Given the description of an element on the screen output the (x, y) to click on. 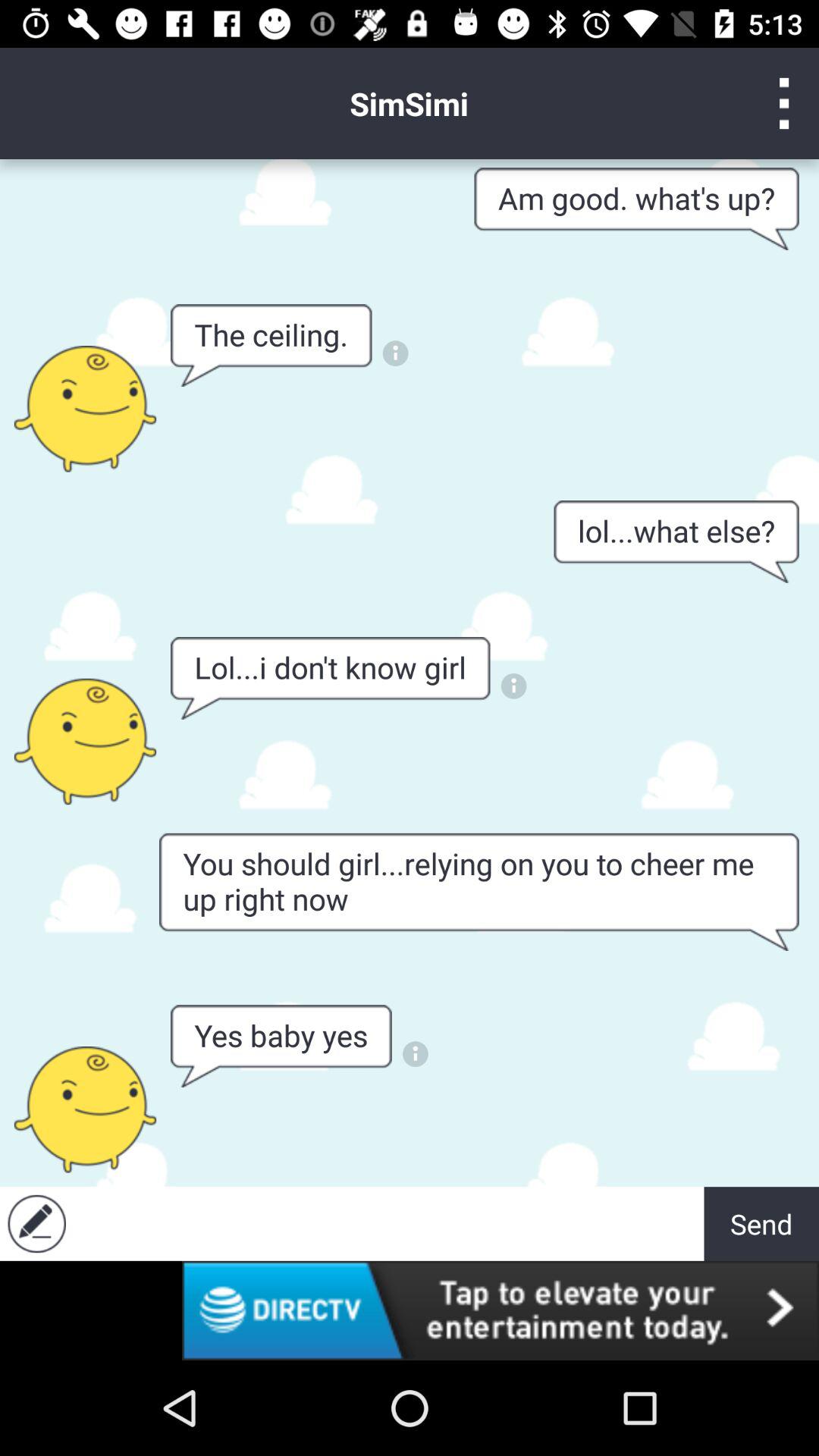
go to details (513, 686)
